Given the description of an element on the screen output the (x, y) to click on. 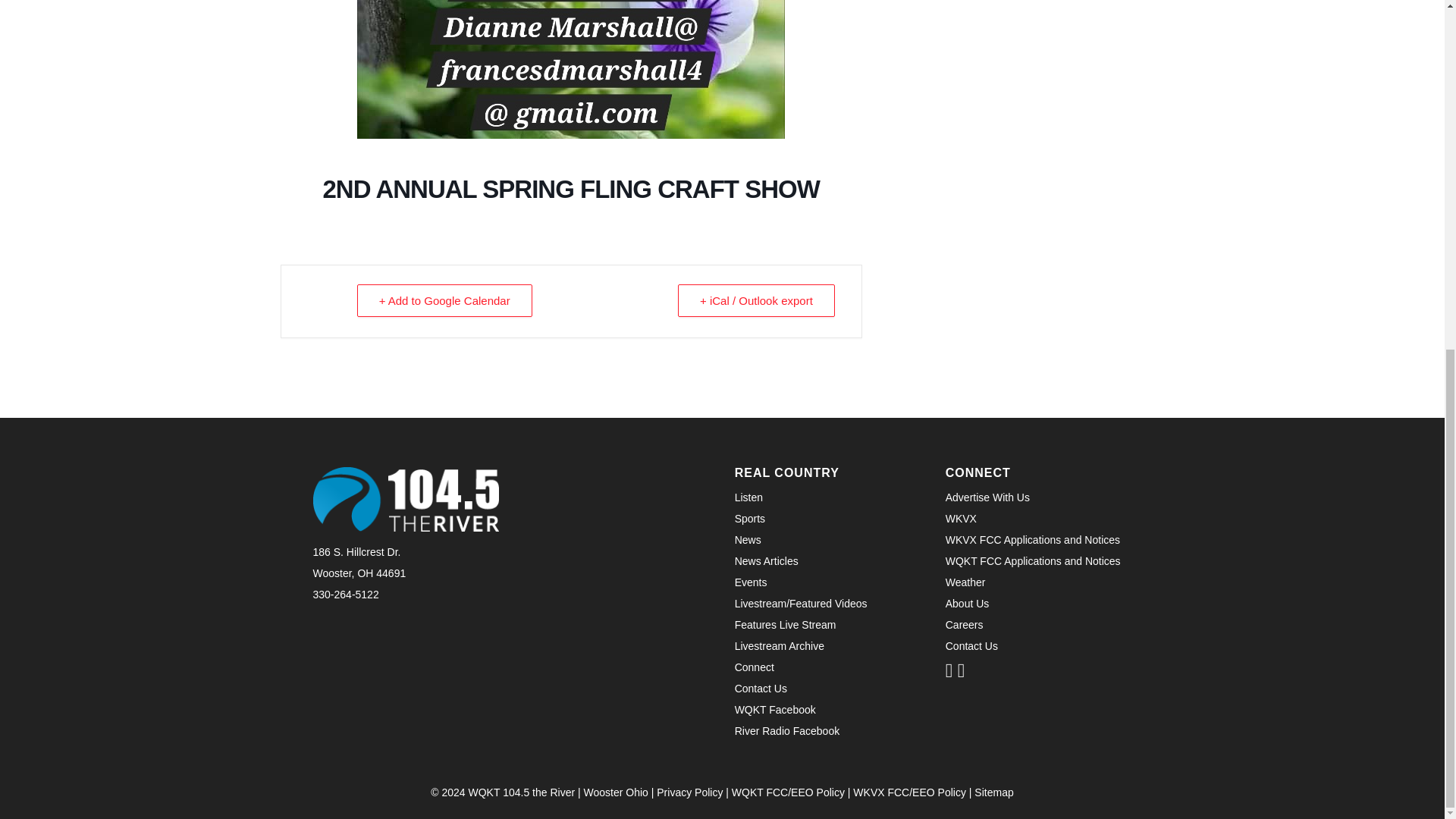
Sports (750, 518)
Listen (748, 497)
